Given the description of an element on the screen output the (x, y) to click on. 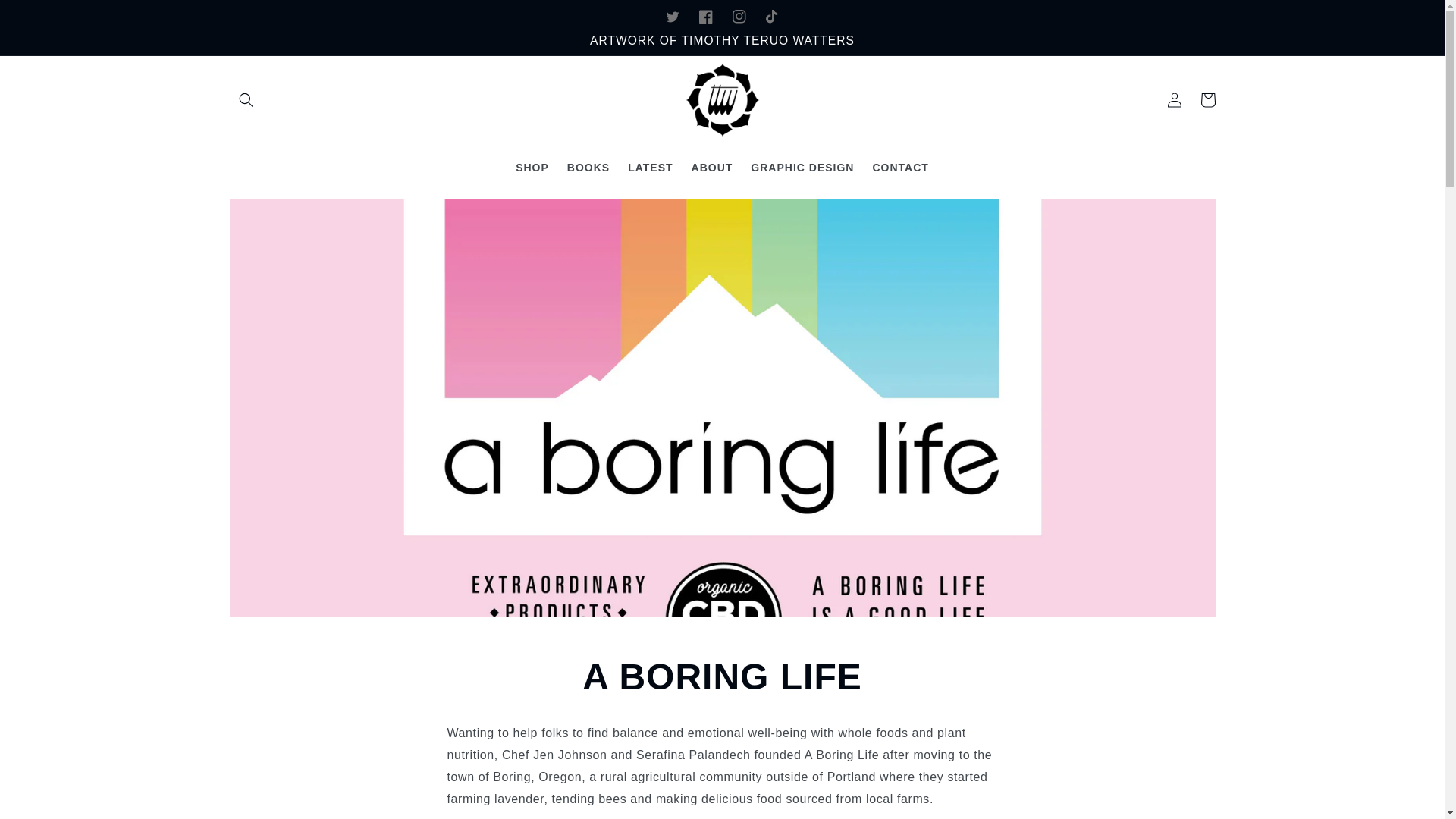
Log in (1174, 100)
Skip to content (45, 17)
ABOUT (712, 167)
CONTACT (900, 167)
TikTok (772, 16)
Facebook (705, 16)
Instagram (738, 16)
Twitter (671, 16)
LATEST (649, 167)
GRAPHIC DESIGN (802, 167)
BOOKS (587, 167)
SHOP (531, 167)
Cart (1207, 100)
